Given the description of an element on the screen output the (x, y) to click on. 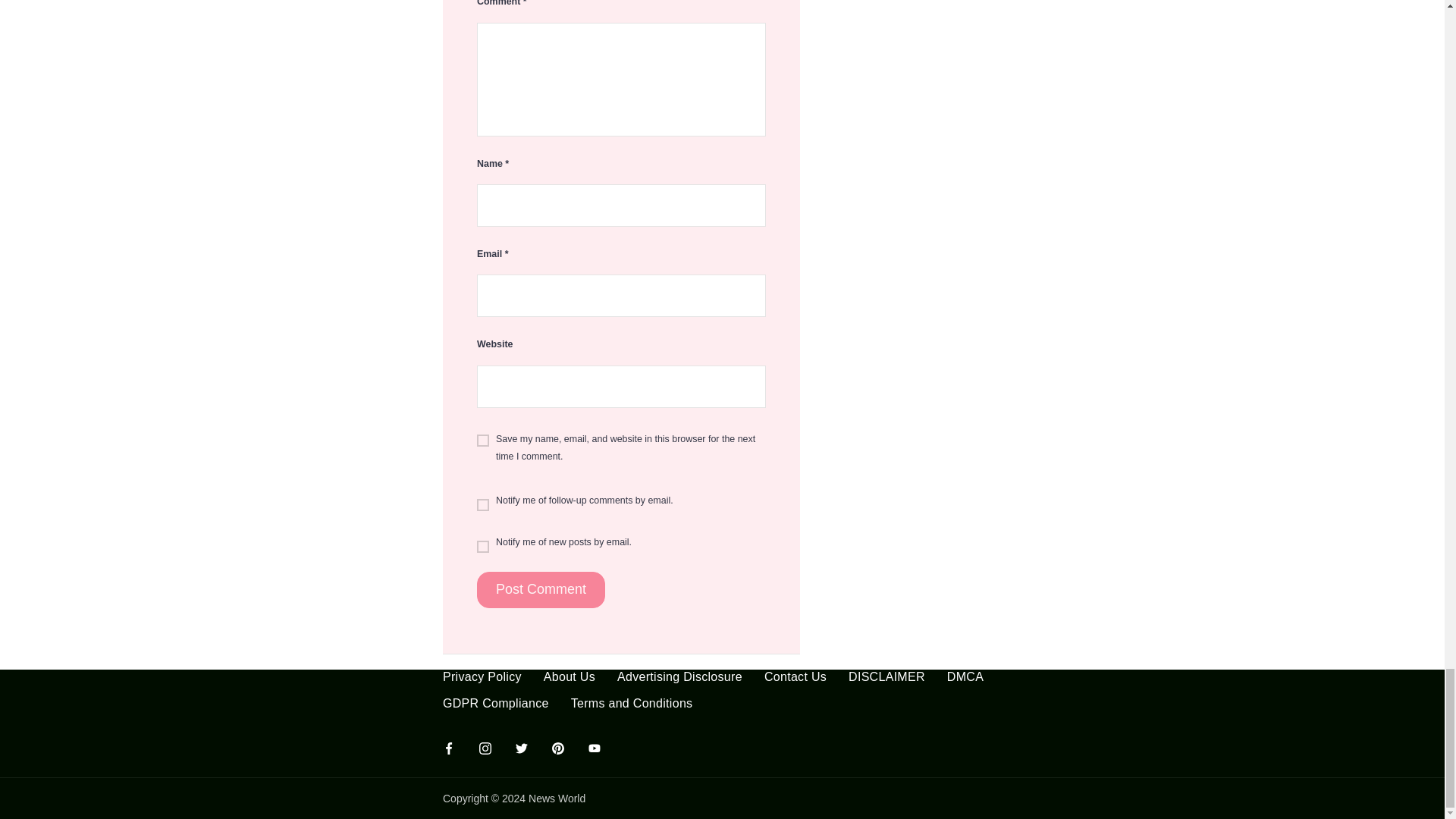
Post Comment (541, 589)
